Given the description of an element on the screen output the (x, y) to click on. 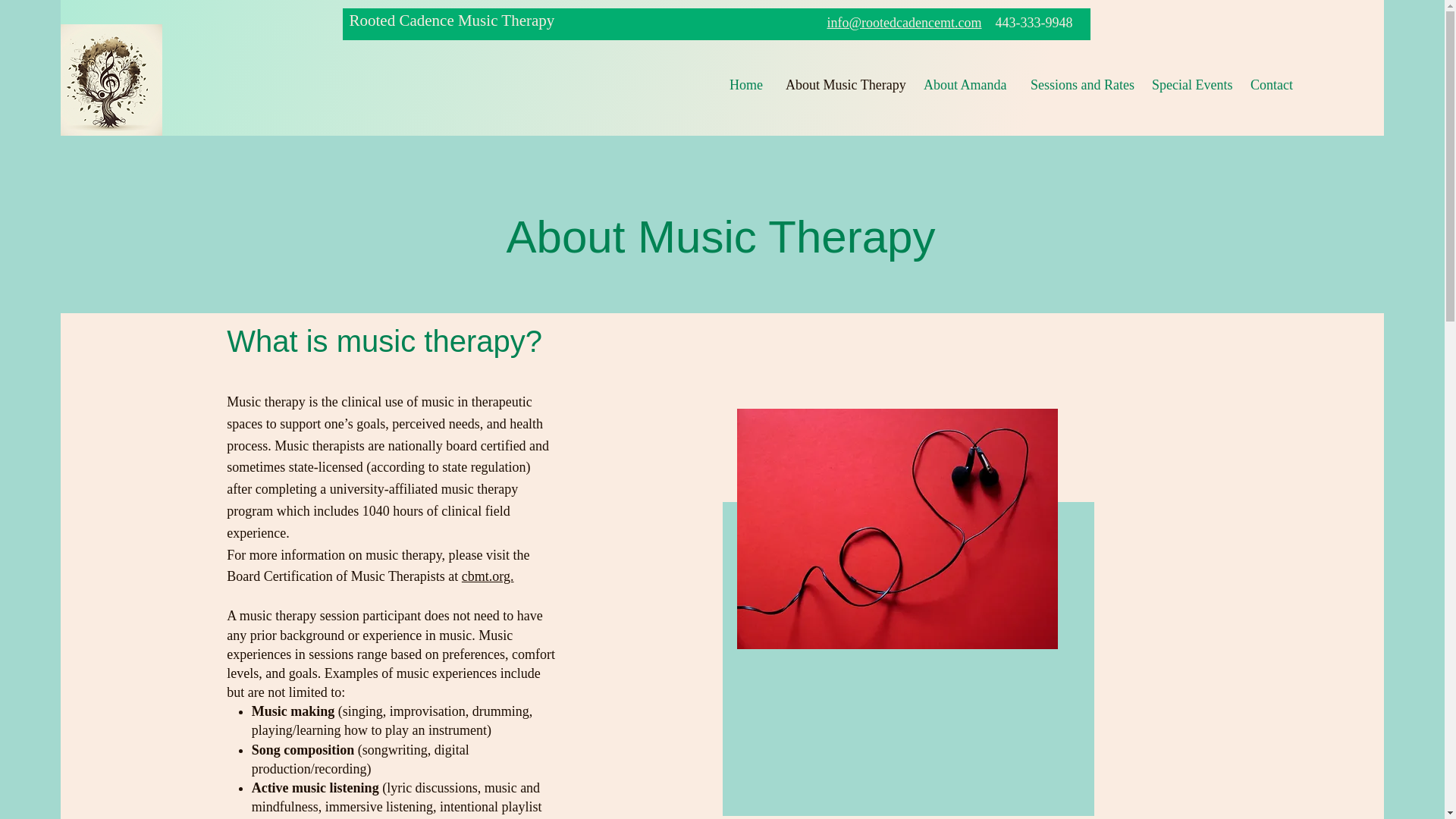
Contact (1271, 84)
About Music Therapy (843, 84)
Home (745, 84)
cbmt.org. (487, 575)
Special Events (1189, 84)
Sessions and Rates (1079, 84)
About Amanda (965, 84)
Rooted Cadence Music Therapy (451, 20)
